Given the description of an element on the screen output the (x, y) to click on. 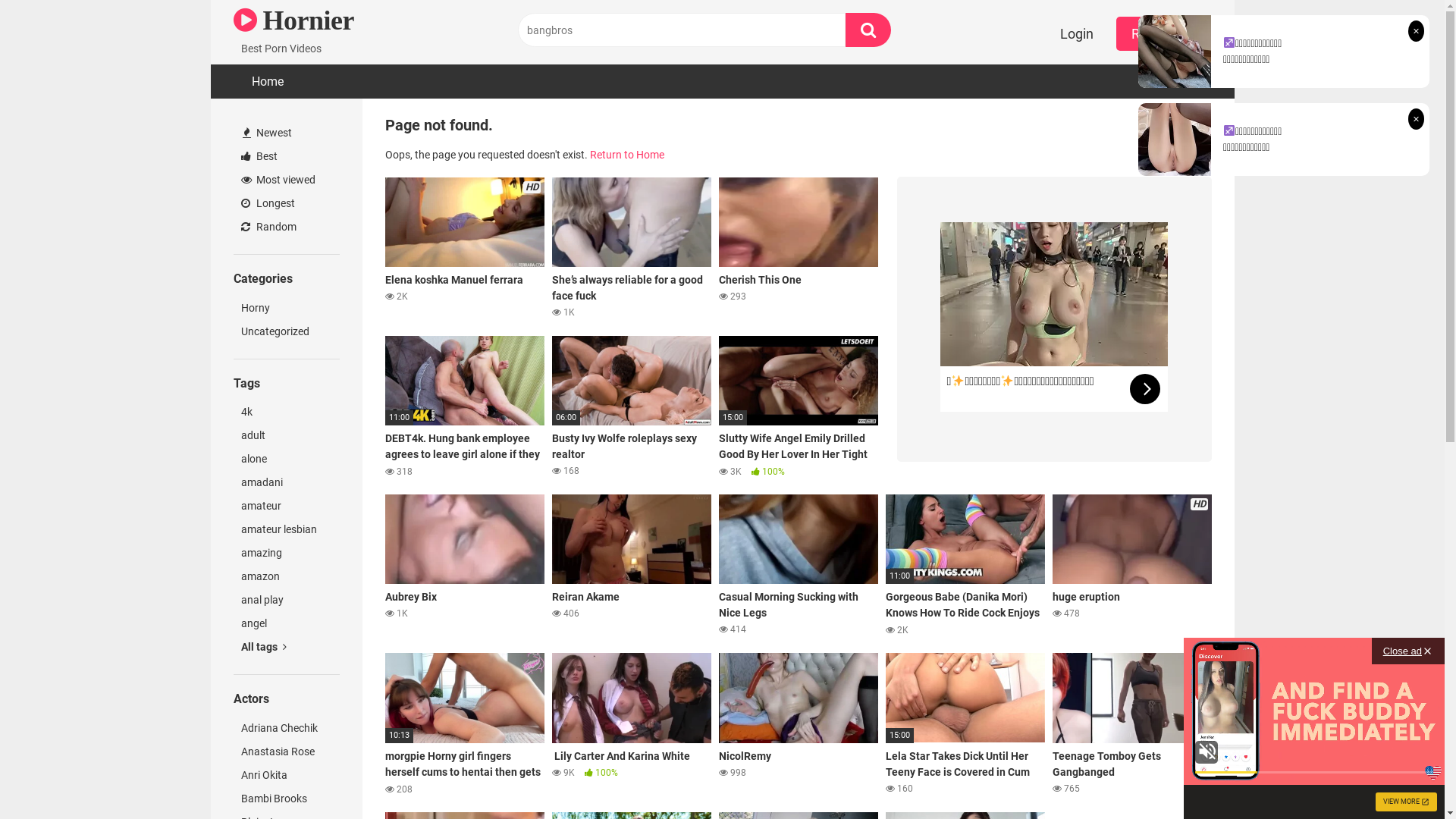
Return to Home Element type: text (626, 154)
alone Element type: text (286, 458)
Horny Element type: text (286, 308)
Teenage Tomboy Gets Gangbanged
765 Element type: text (1131, 723)
angel Element type: text (286, 623)
Newest Element type: text (286, 132)
amazon Element type: text (286, 576)
Anri Okita Element type: text (286, 775)
Uncategorized Element type: text (286, 331)
amadani Element type: text (286, 482)
Hornier Element type: text (293, 20)
amateur Element type: text (286, 505)
Login Element type: text (1076, 33)
All tags Element type: text (286, 646)
adult Element type: text (286, 435)
Aubrey Bix
1K Element type: text (464, 565)
Cherish This One
293 Element type: text (798, 248)
Casual Morning Sucking with Nice Legs
414 Element type: text (798, 565)
amazing Element type: text (286, 552)
4k Element type: text (286, 411)
HD
huge eruption
478 Element type: text (1131, 565)
Register Element type: text (1156, 33)
Bambi Brooks Element type: text (286, 798)
 Lily Carter And Karina White
9K 100% Element type: text (631, 723)
Home Element type: text (267, 81)
06:00
Busty Ivy Wolfe roleplays sexy realtor
168 Element type: text (631, 406)
anal play Element type: text (286, 599)
Longest Element type: text (286, 203)
HD
Elena koshka Manuel ferrara
2K Element type: text (464, 248)
Anastasia Rose Element type: text (286, 751)
NicolRemy
998 Element type: text (798, 723)
amateur lesbian Element type: text (286, 529)
Reiran Akame
406 Element type: text (631, 565)
Random Element type: text (286, 226)
Adriana Chechik Element type: text (286, 728)
Best Element type: text (286, 156)
Most viewed Element type: text (286, 179)
